Given the description of an element on the screen output the (x, y) to click on. 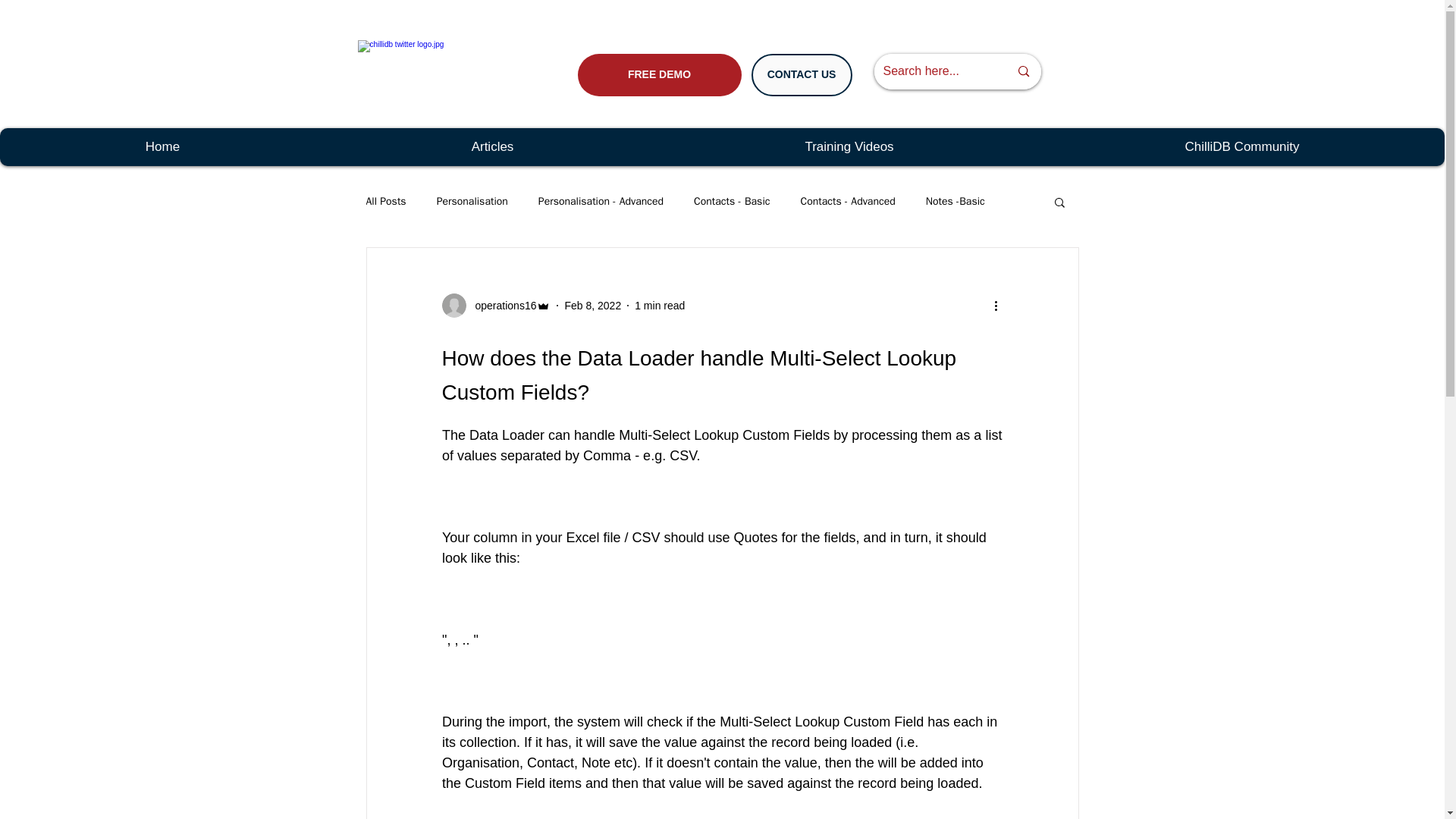
Personalisation (472, 201)
FREE DEMO (659, 75)
Training Videos (849, 146)
All Posts (385, 201)
Articles (491, 146)
1 min read (659, 304)
Home (162, 146)
Feb 8, 2022 (592, 304)
CONTACT US (801, 75)
Contacts - Advanced (847, 201)
